Given the description of an element on the screen output the (x, y) to click on. 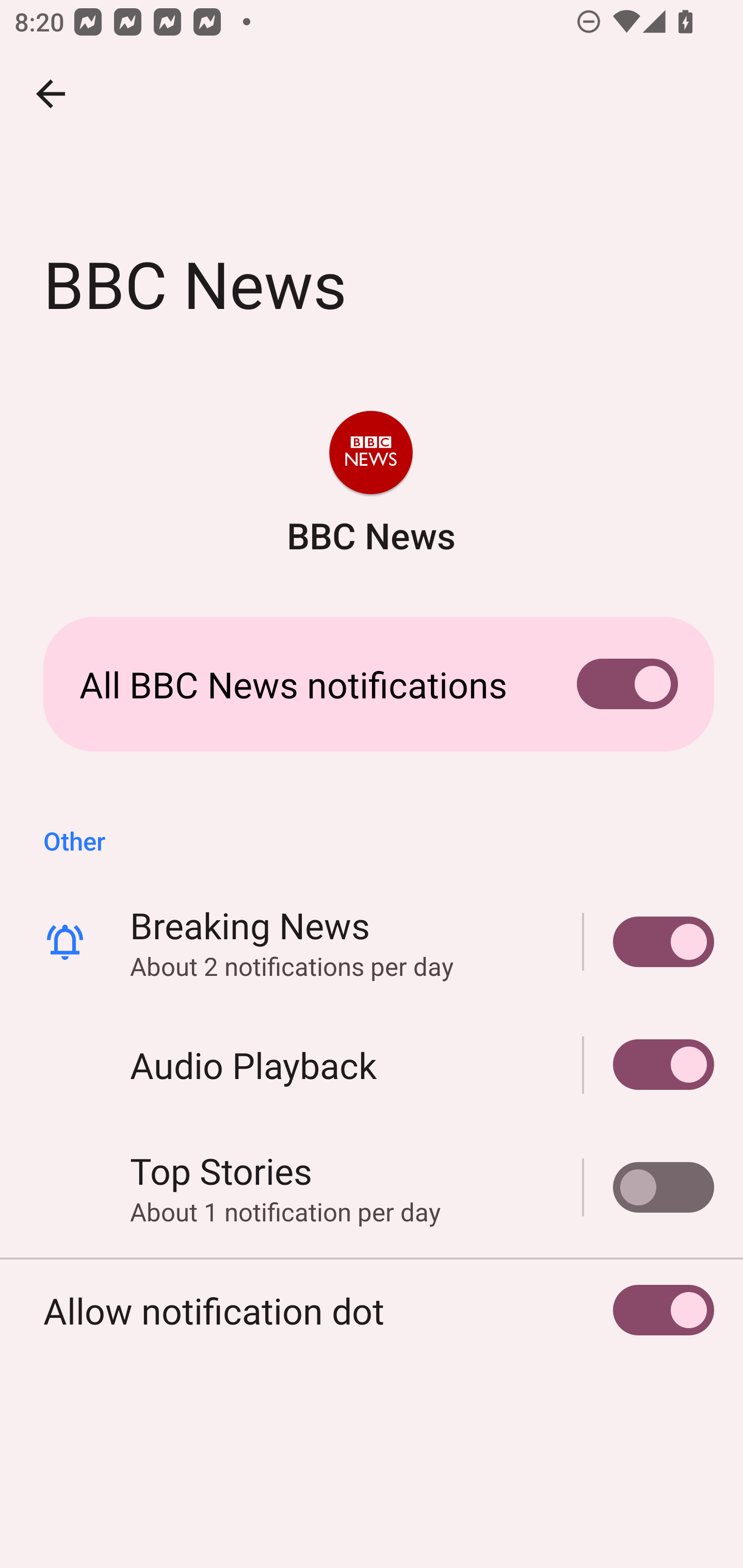
Navigate up (50, 93)
BBC News (370, 484)
All BBC News notifications (371, 684)
Breaking News (648, 941)
Audio Playback (371, 1064)
Audio Playback (648, 1064)
Top Stories (648, 1187)
Allow notification dot (371, 1309)
